Given the description of an element on the screen output the (x, y) to click on. 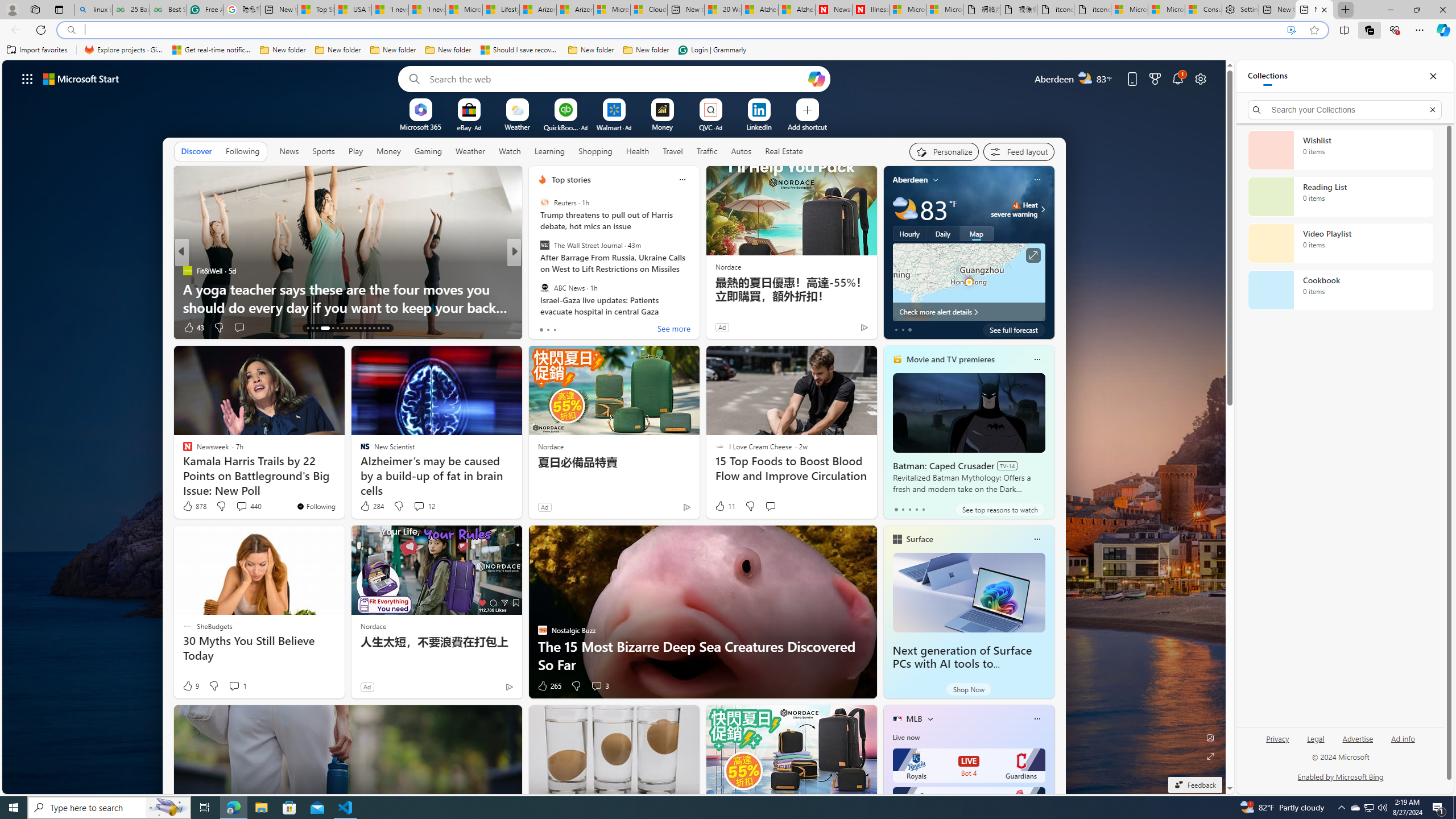
Consumer Health Data Privacy Policy (1203, 9)
More interests (930, 718)
View comments 202 Comment (599, 327)
Traffic (706, 151)
Delish (537, 270)
View comments 202 Comment (592, 327)
USA TODAY - MSN (353, 9)
Aberdeen (910, 179)
Real Estate (783, 151)
